Given the description of an element on the screen output the (x, y) to click on. 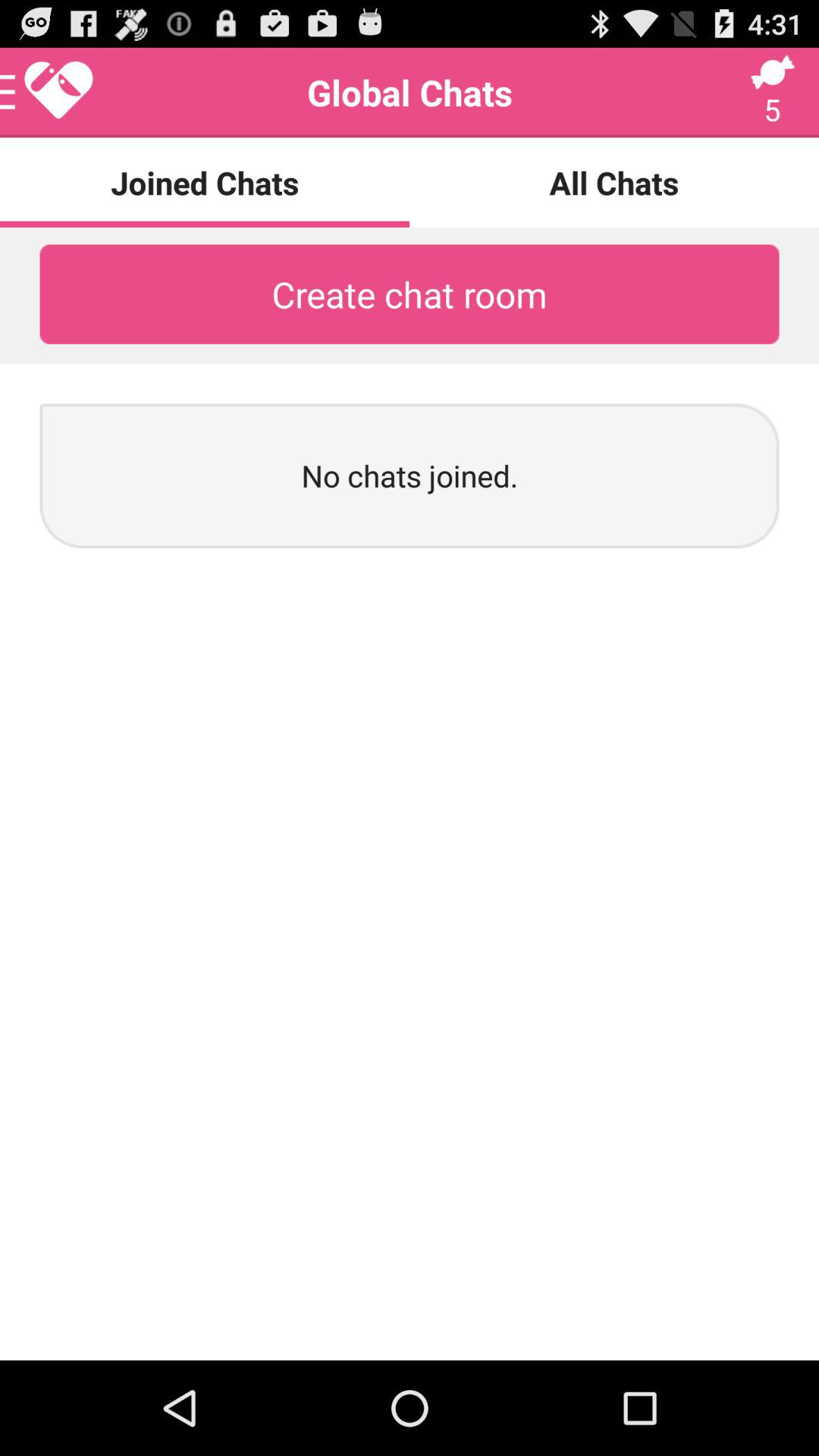
flip to the create chat room icon (409, 294)
